Given the description of an element on the screen output the (x, y) to click on. 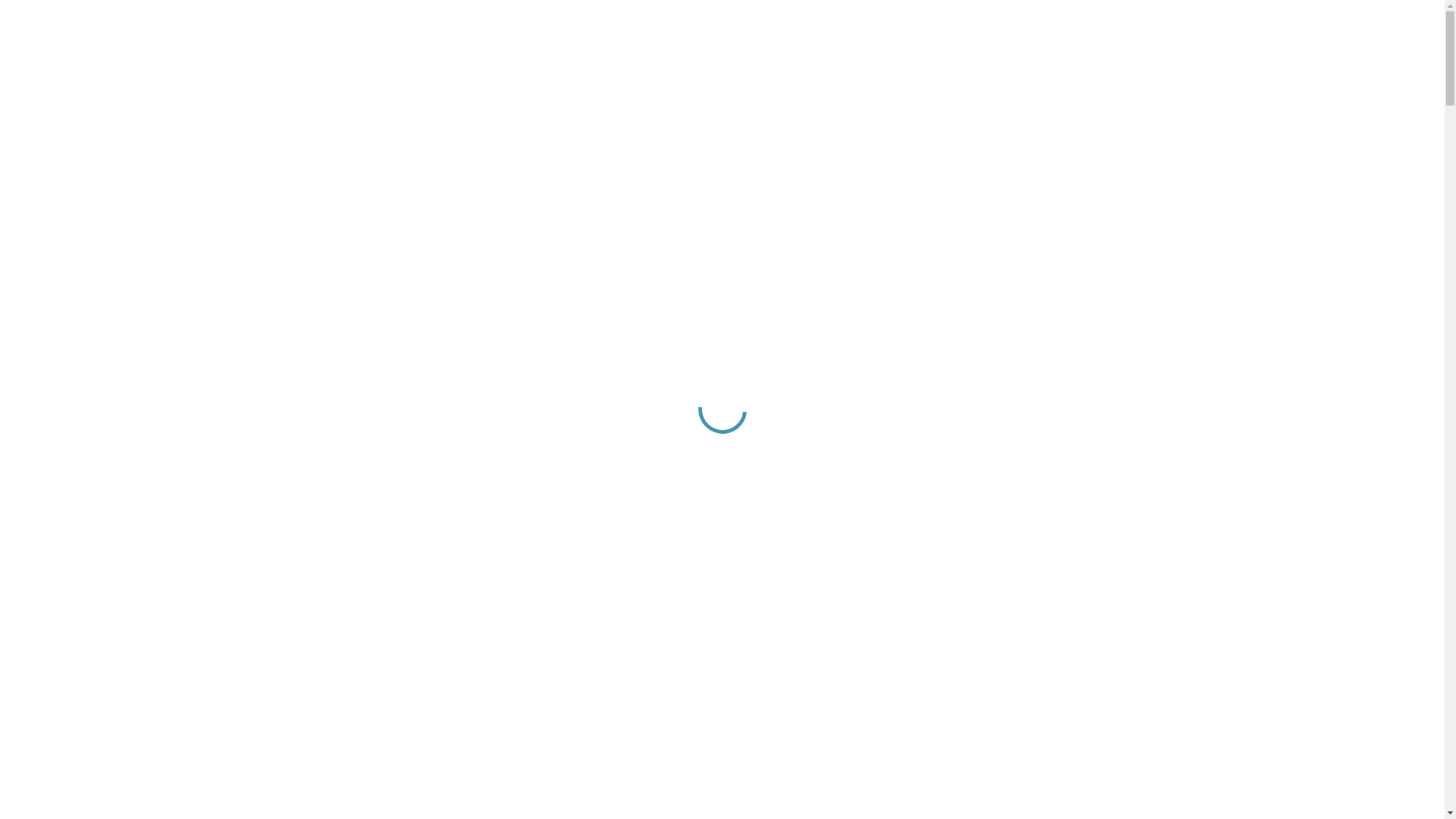
Get a Proposal Element type: text (43, 349)
Commercial Element type: text (66, 219)
Fabrics Element type: text (84, 310)
cushions Element type: text (287, 184)
Blog Element type: text (47, 374)
Services Element type: text (58, 245)
Cushions Element type: text (90, 297)
Parker Element type: text (83, 258)
X Element type: text (40, 418)
fabrics Element type: text (207, 157)
Contact Element type: text (55, 361)
About Us Element type: text (59, 335)
Reupholstery Element type: text (99, 284)
Residential Element type: text (64, 232)
FAQs Element type: text (50, 348)
Get a Proposal Element type: text (43, 24)
Restoration Element type: text (95, 271)
family treasures Element type: text (382, 83)
Collect Furniture Element type: text (475, 589)
Identify Work Required Element type: text (476, 422)
Skip to content Element type: text (43, 12)
Free Proposal Form Element type: text (215, 457)
Parker Element type: text (183, 246)
Home Element type: text (51, 206)
Complete work Element type: text (475, 756)
commercial Element type: text (614, 83)
Recent Work Element type: text (68, 322)
